Given the description of an element on the screen output the (x, y) to click on. 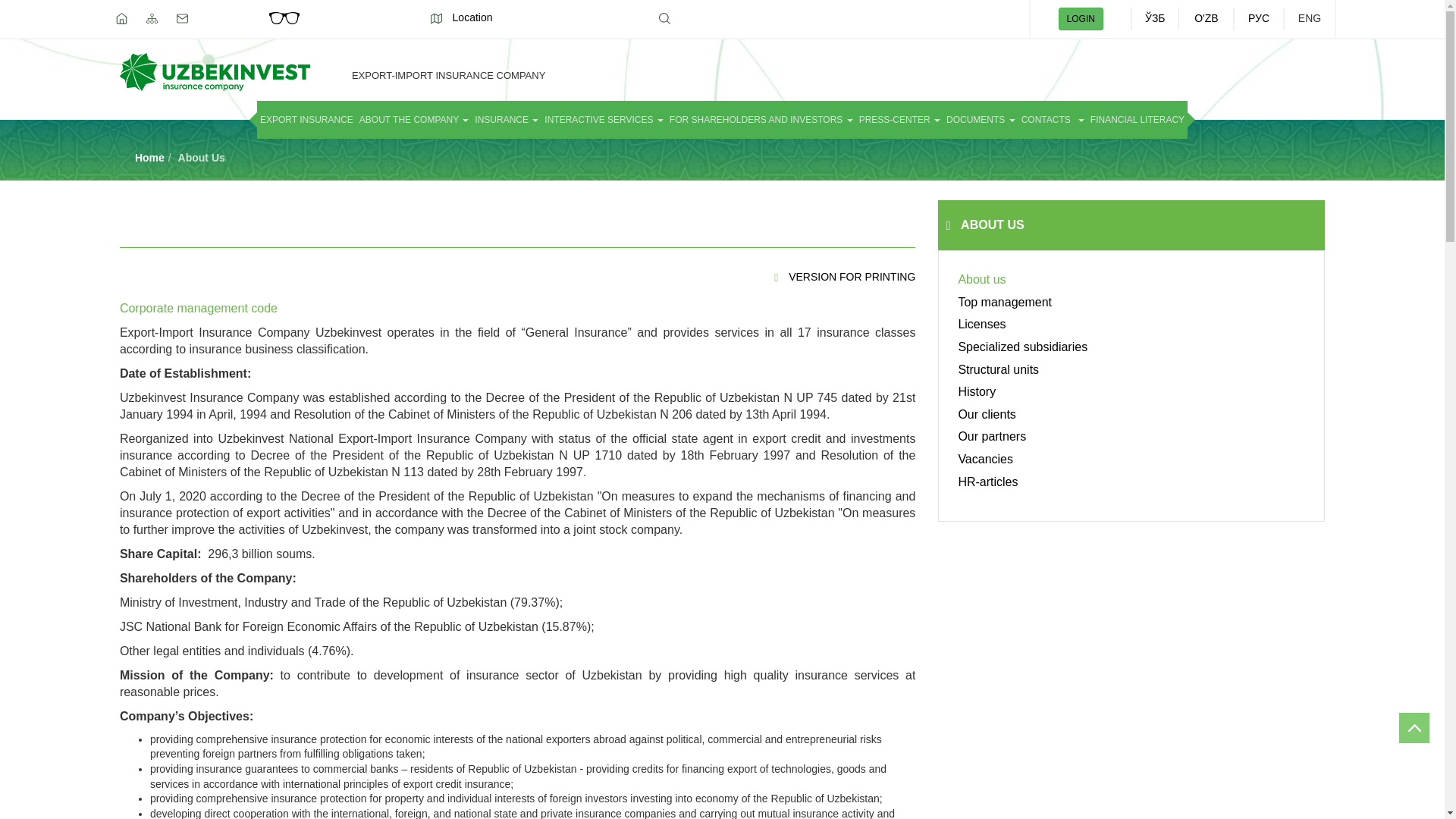
EXPORT INSURANCE (306, 119)
Corporate management code (198, 308)
O'ZB (1205, 18)
Location (461, 17)
INTERACTIVE SERVICES (603, 119)
INSURANCE (506, 119)
LOGIN (1080, 18)
ABOUT THE COMPANY (413, 119)
